Given the description of an element on the screen output the (x, y) to click on. 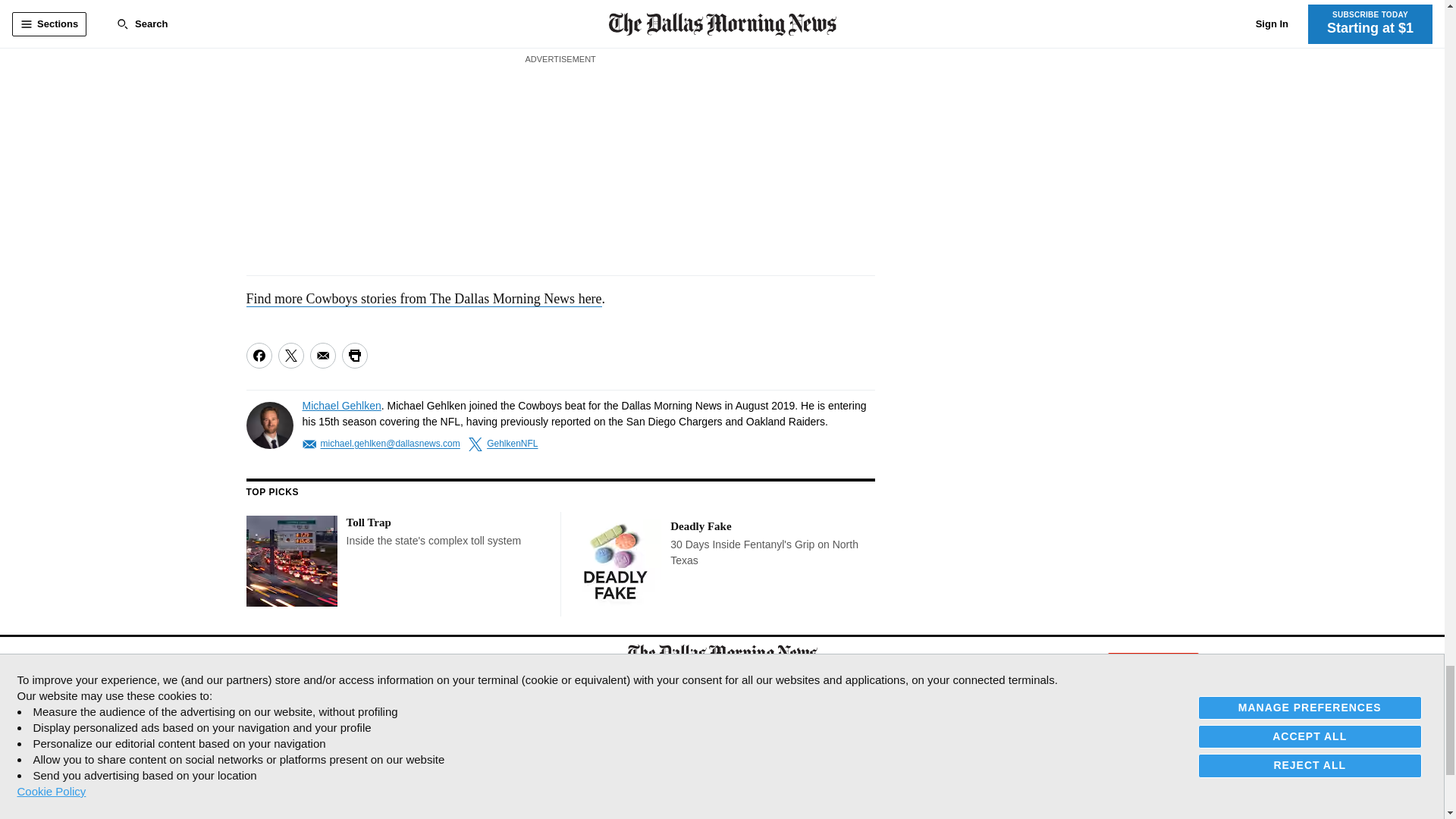
The Dallas Morning News on Instagram (332, 663)
The Dallas Morning News on Twitter (293, 663)
The Dallas Morning News on YouTube (365, 663)
Print (353, 355)
The Dallas Morning News on Facebook (259, 663)
Share on Twitter (290, 355)
Share on Facebook (258, 355)
Share via Email (321, 355)
